Given the description of an element on the screen output the (x, y) to click on. 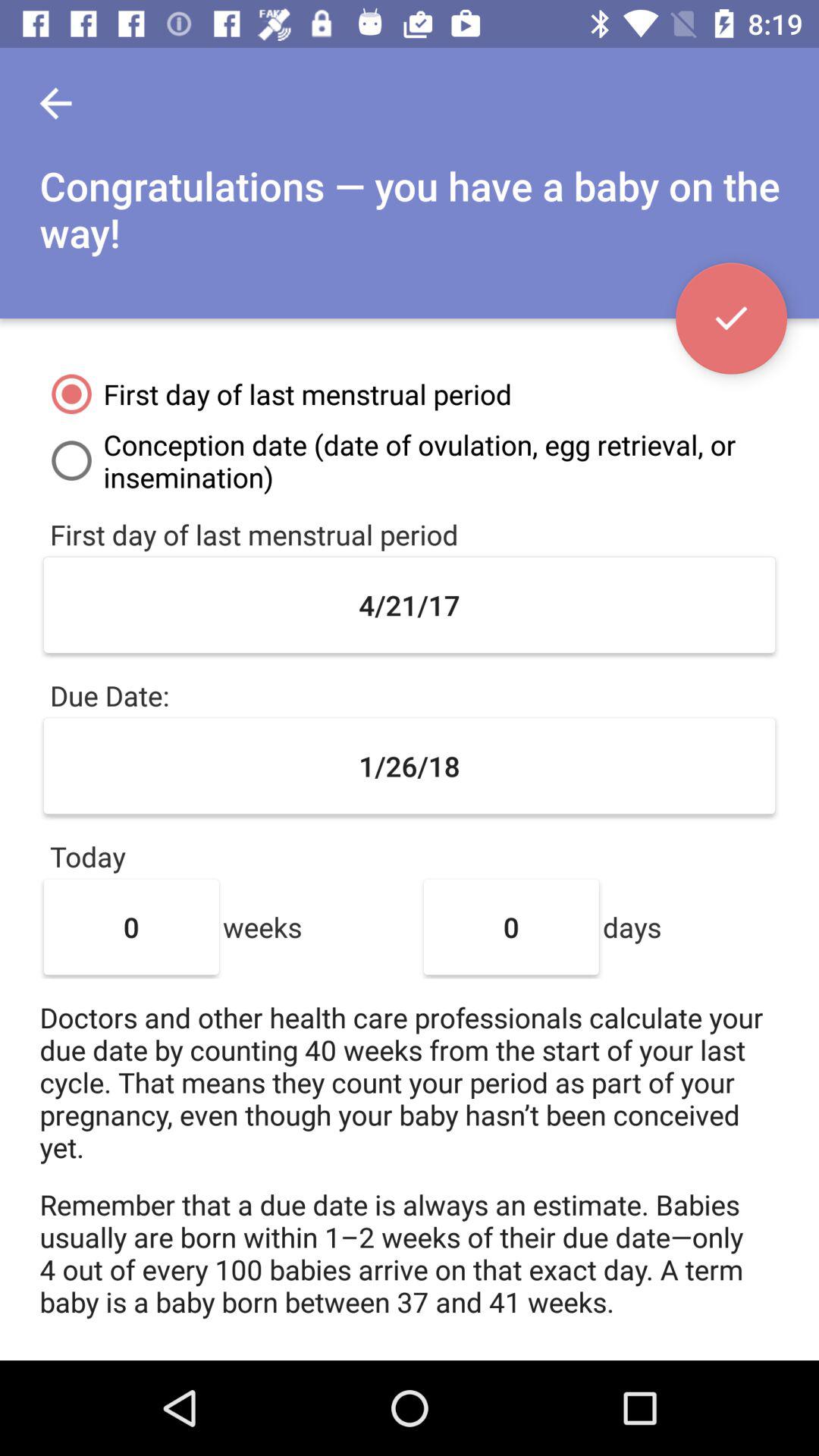
turn on icon above the conception date date item (731, 318)
